Given the description of an element on the screen output the (x, y) to click on. 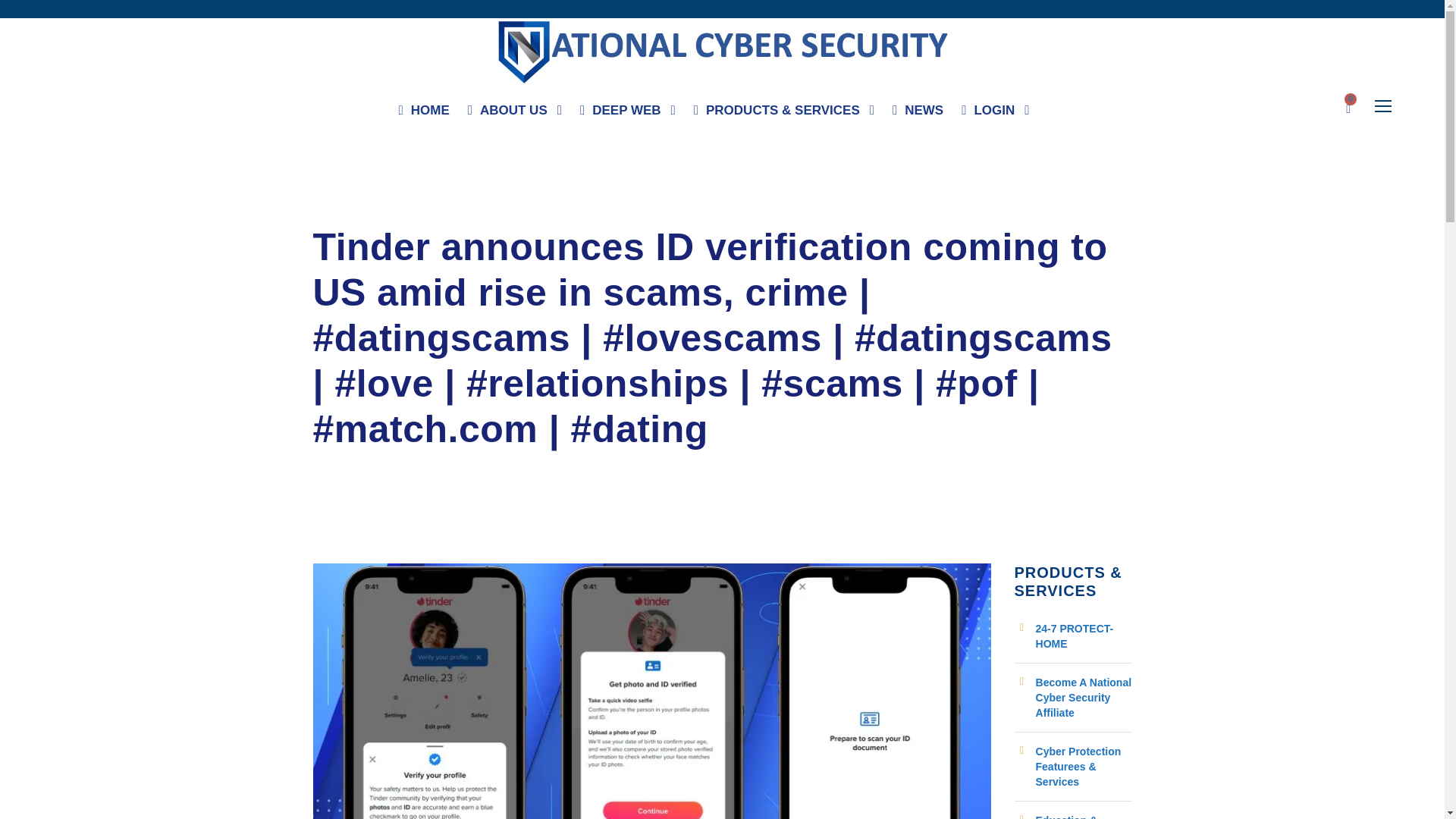
Posts by Natioinal Cyber Security Training Academy Corp (443, 211)
DEEP WEB (627, 114)
ABOUT US (514, 114)
HOME (423, 114)
